Given the description of an element on the screen output the (x, y) to click on. 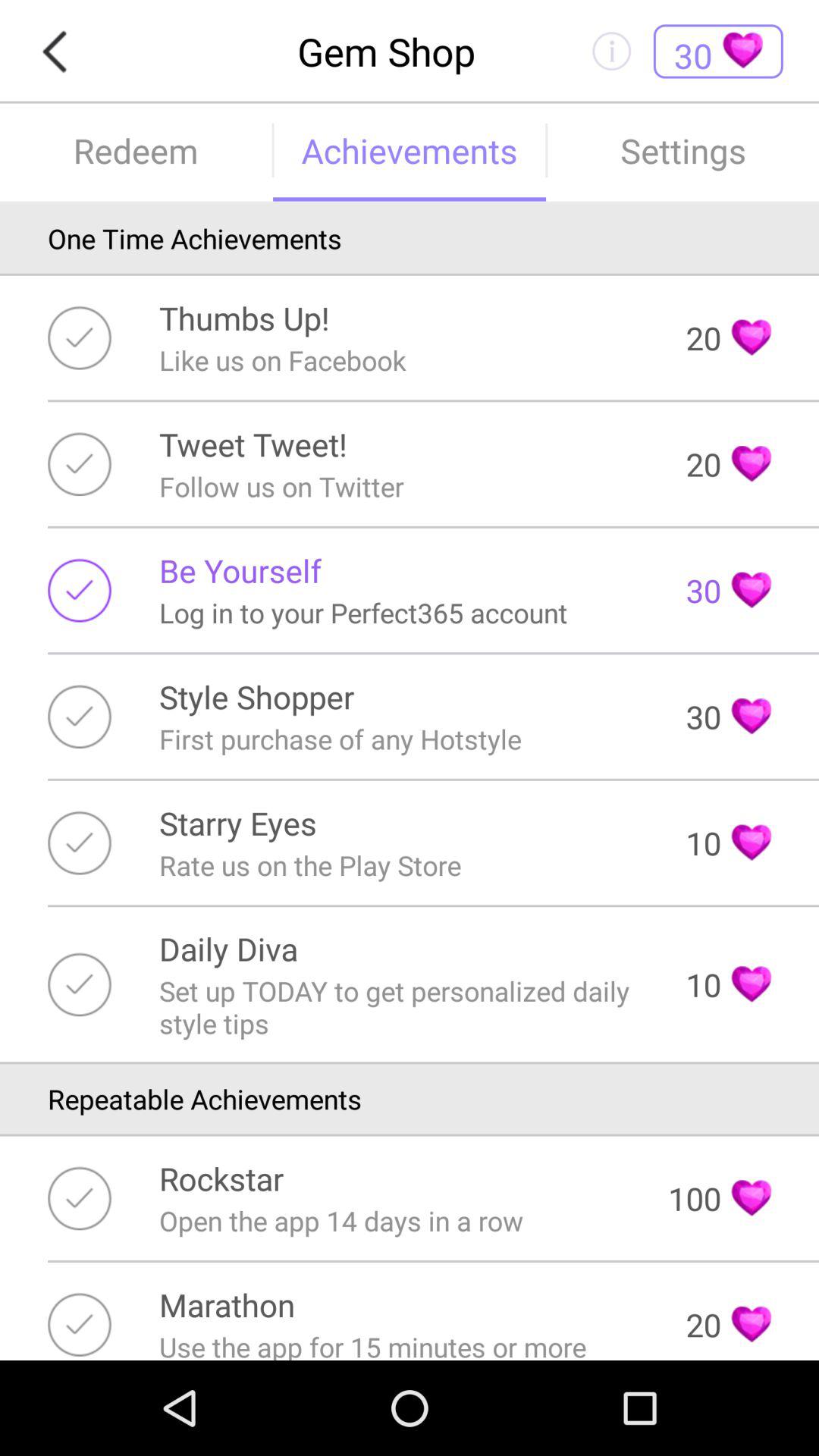
turn off the tweet tweet! item (252, 443)
